Given the description of an element on the screen output the (x, y) to click on. 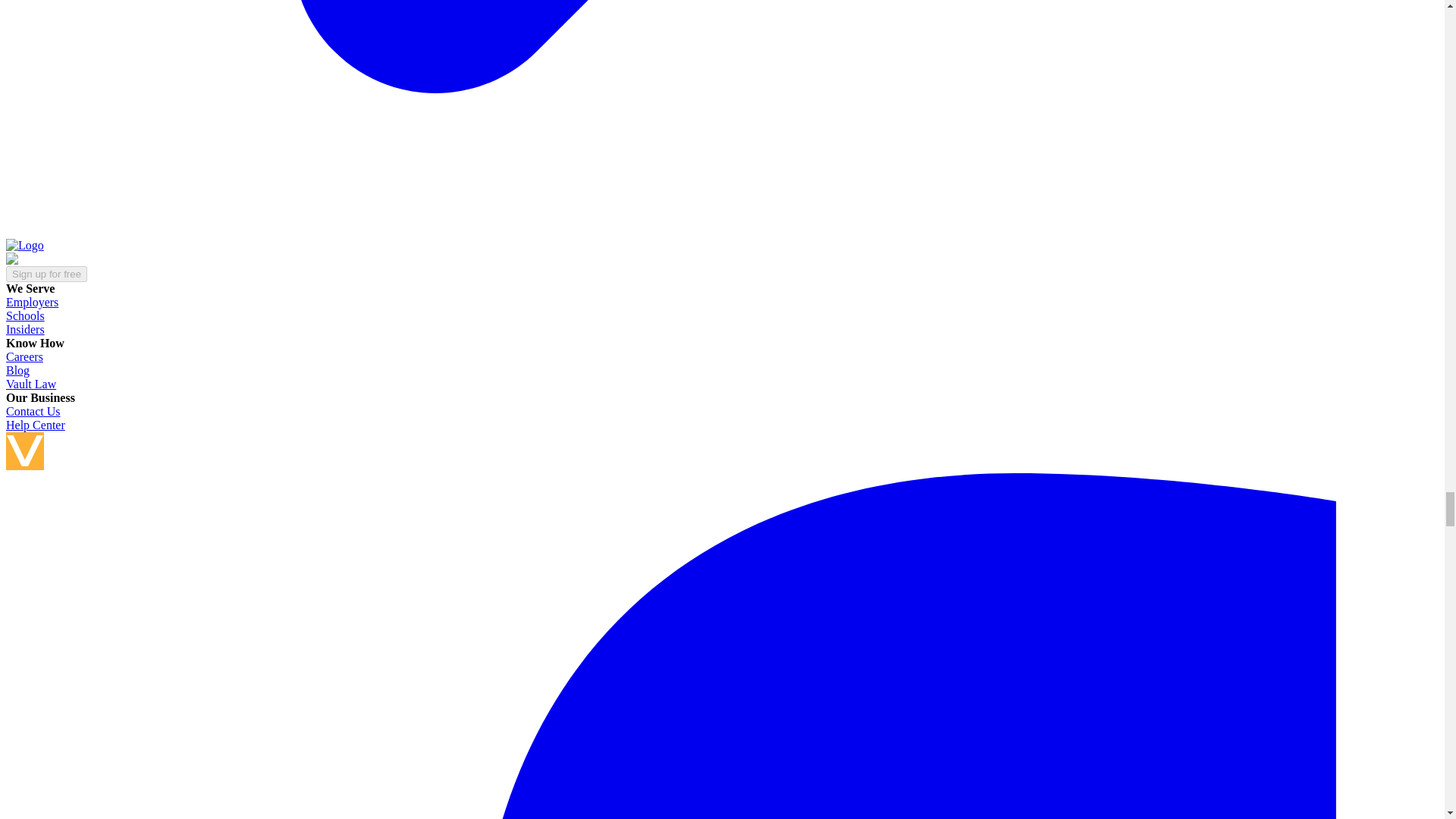
Insiders (25, 328)
Blog (17, 369)
Help Center (35, 424)
Employers (31, 301)
Sign up for free (46, 273)
Schools (25, 315)
Sign up for free (46, 273)
Careers (24, 356)
Contact Us (33, 410)
Vault Law (30, 383)
